Given the description of an element on the screen output the (x, y) to click on. 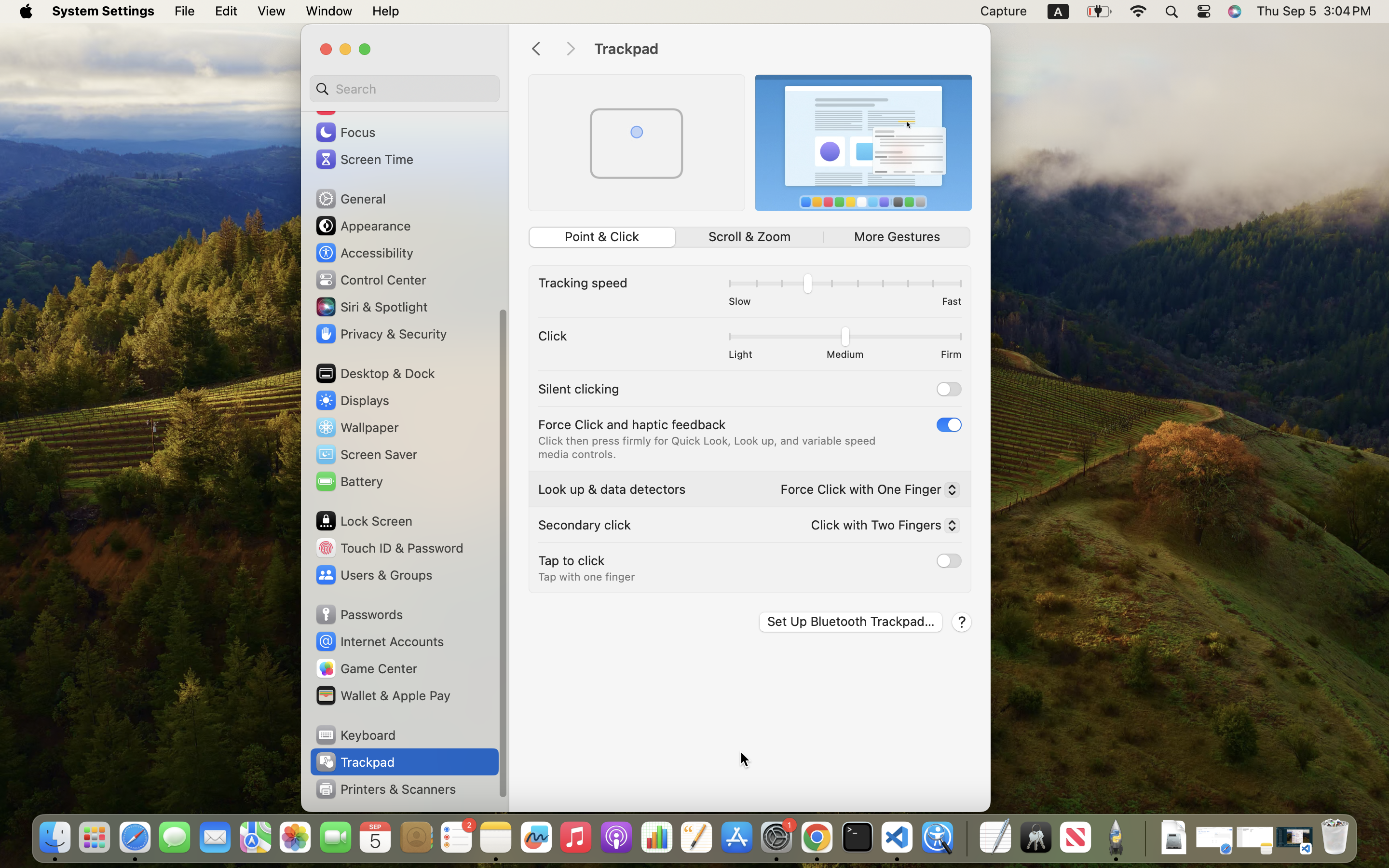
Click with Two Fingers Element type: AXPopUpButton (880, 527)
Touch ID & Password Element type: AXStaticText (388, 547)
Desktop & Dock Element type: AXStaticText (374, 372)
3.0 Element type: AXSlider (844, 284)
Wallet & Apple Pay Element type: AXStaticText (382, 694)
